Given the description of an element on the screen output the (x, y) to click on. 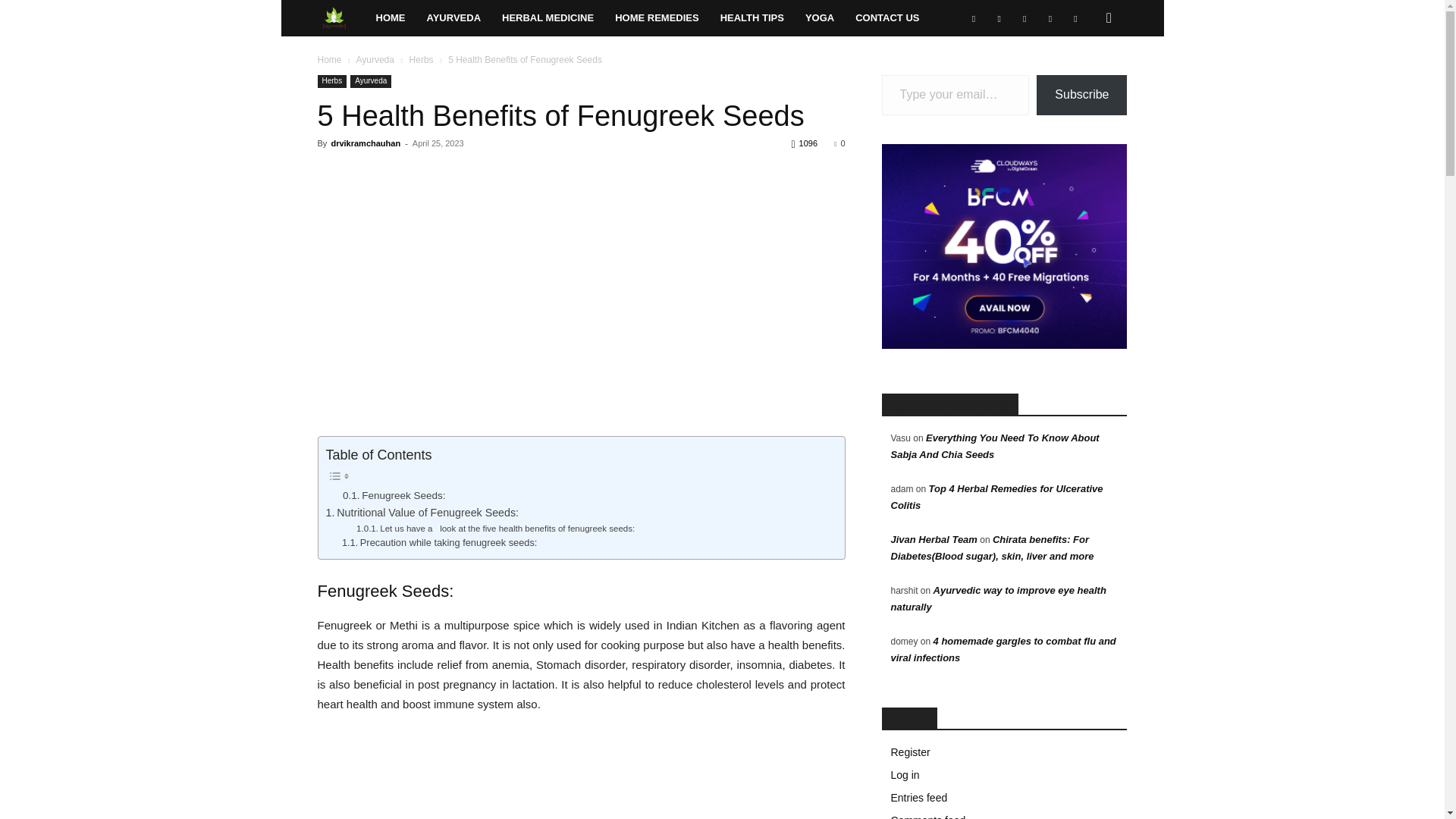
Theayurveda (341, 18)
AYURVEDA (453, 18)
HOME (390, 18)
Home (390, 18)
